Given the description of an element on the screen output the (x, y) to click on. 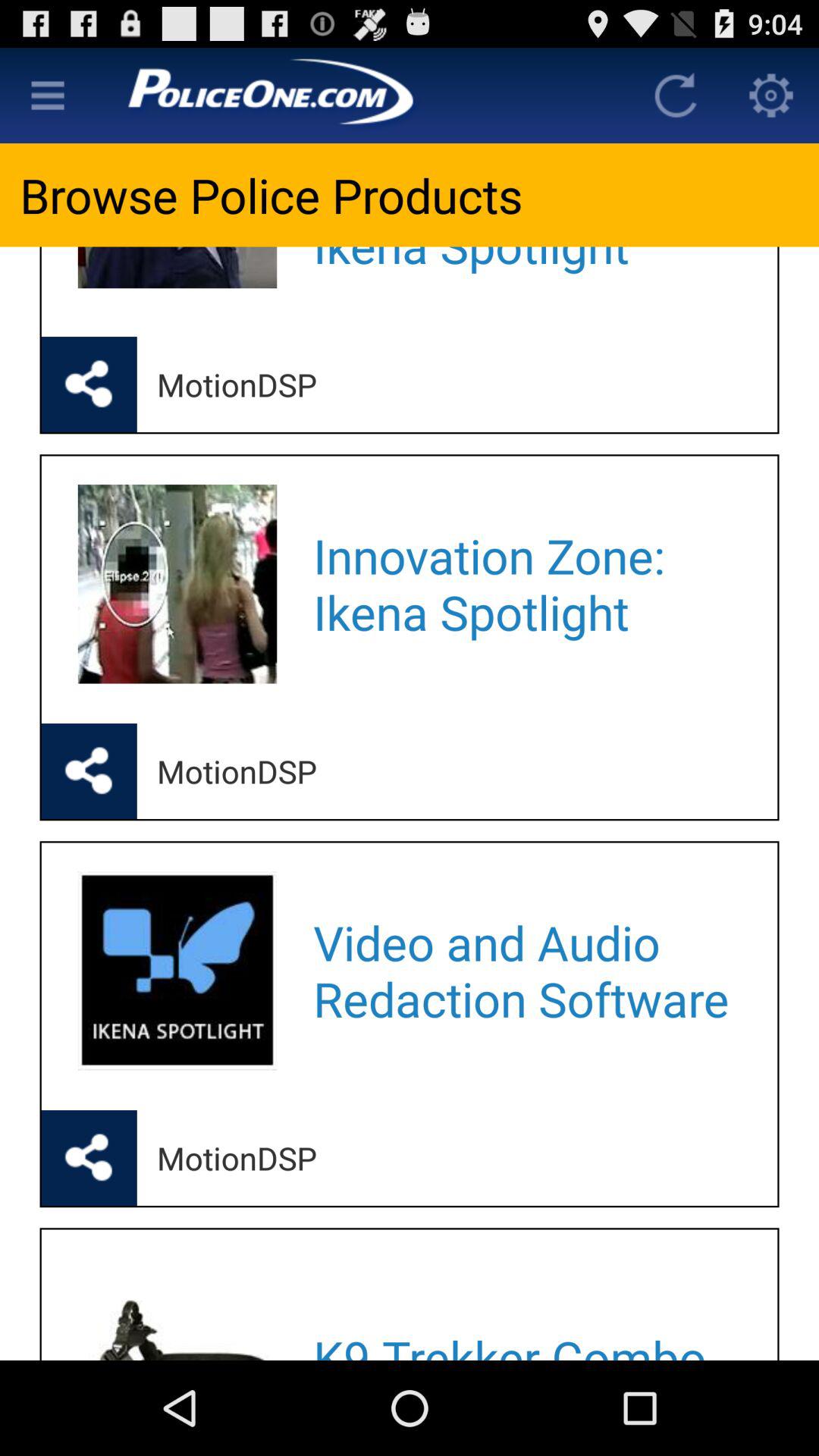
click the icon below motiondsp icon (525, 1309)
